Given the description of an element on the screen output the (x, y) to click on. 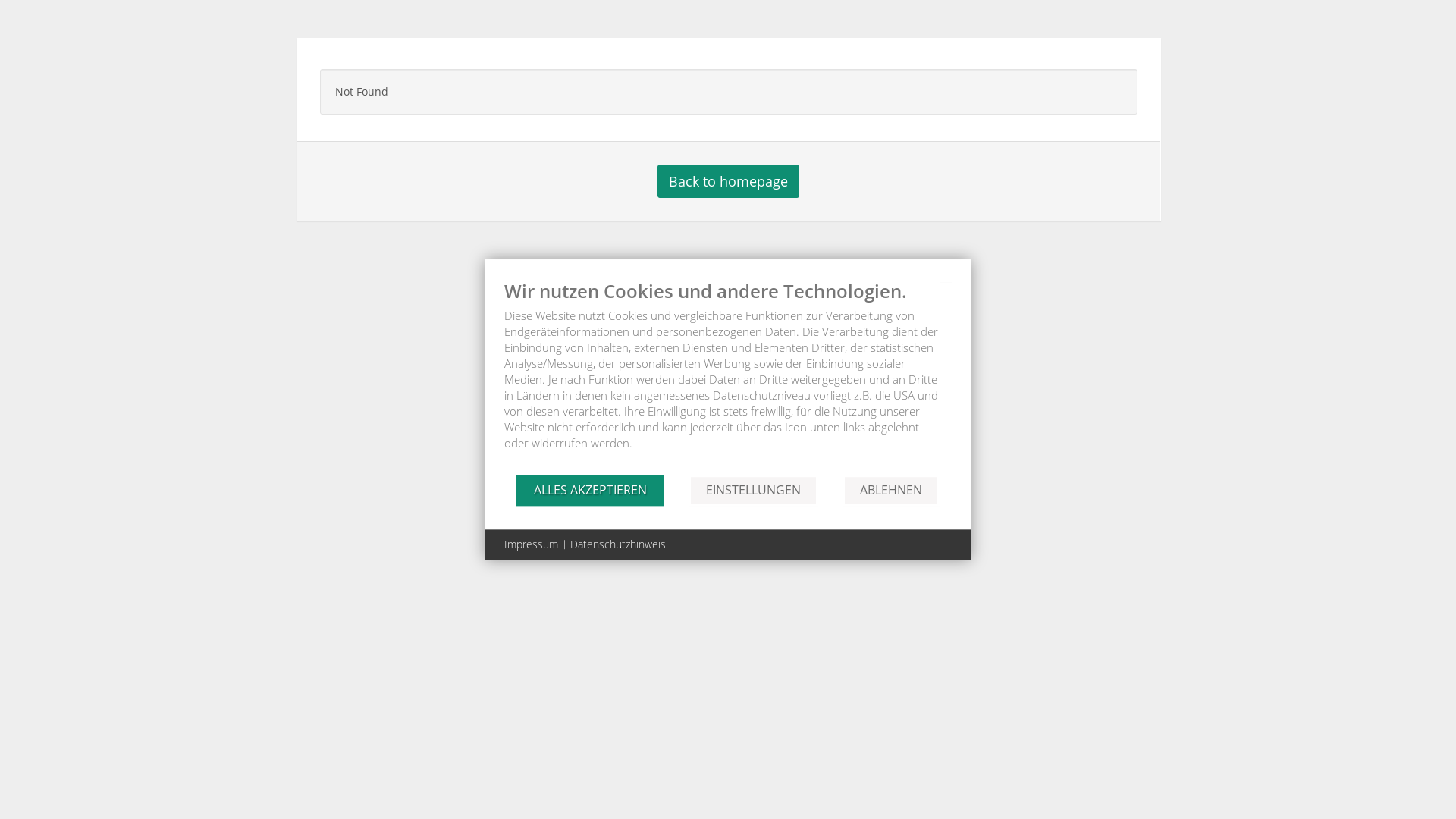
Impressum Element type: text (531, 544)
Datenschutzhinweis Element type: text (617, 544)
EINSTELLUNGEN Element type: text (753, 489)
Back to homepage Element type: text (728, 180)
ABLEHNEN Element type: text (890, 489)
ALLES AKZEPTIEREN Element type: text (590, 489)
